Given the description of an element on the screen output the (x, y) to click on. 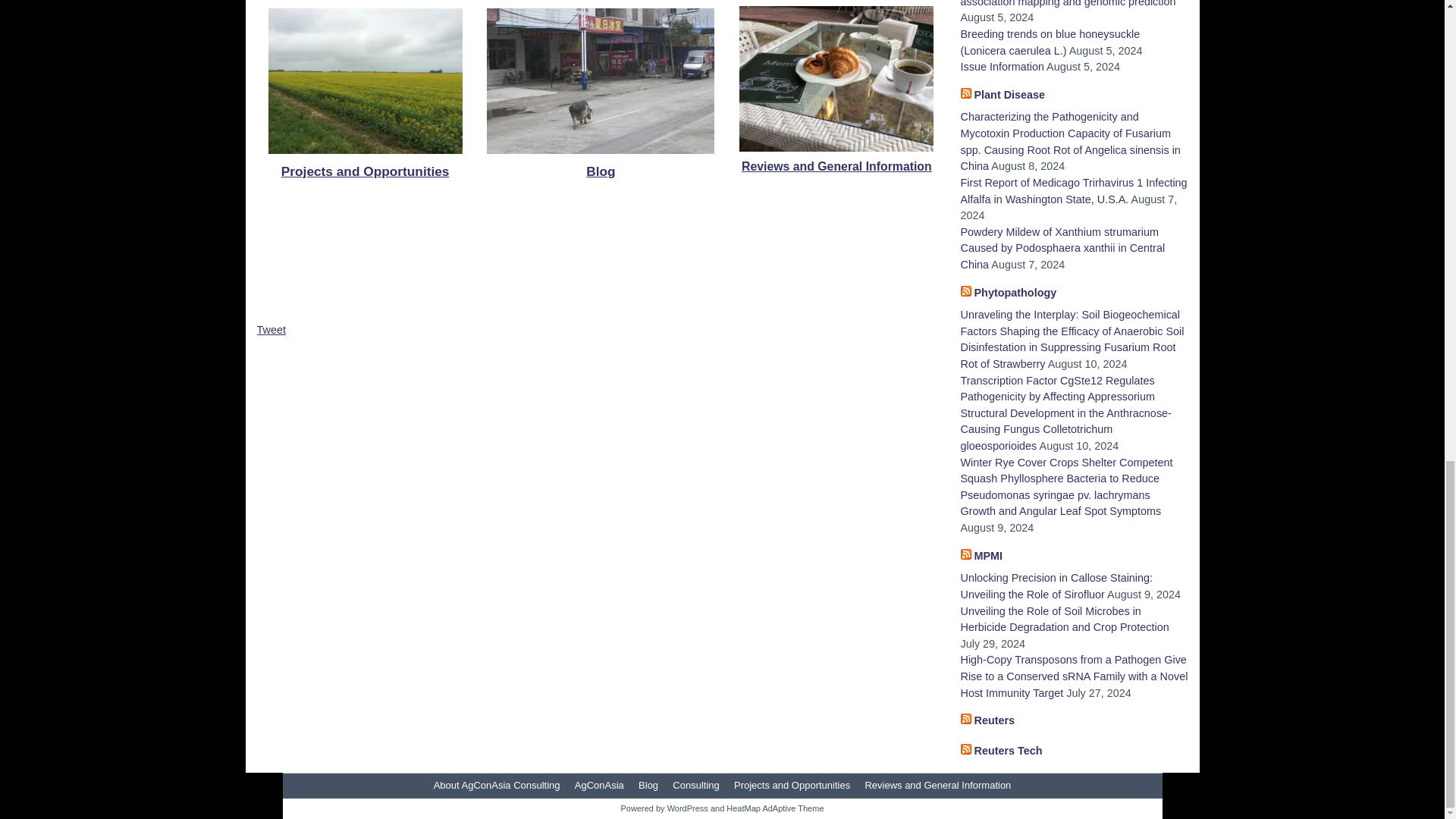
Blog (600, 171)
Reviews and General Information (836, 165)
Projects and Opportunities (365, 171)
Tweet (270, 329)
